Given the description of an element on the screen output the (x, y) to click on. 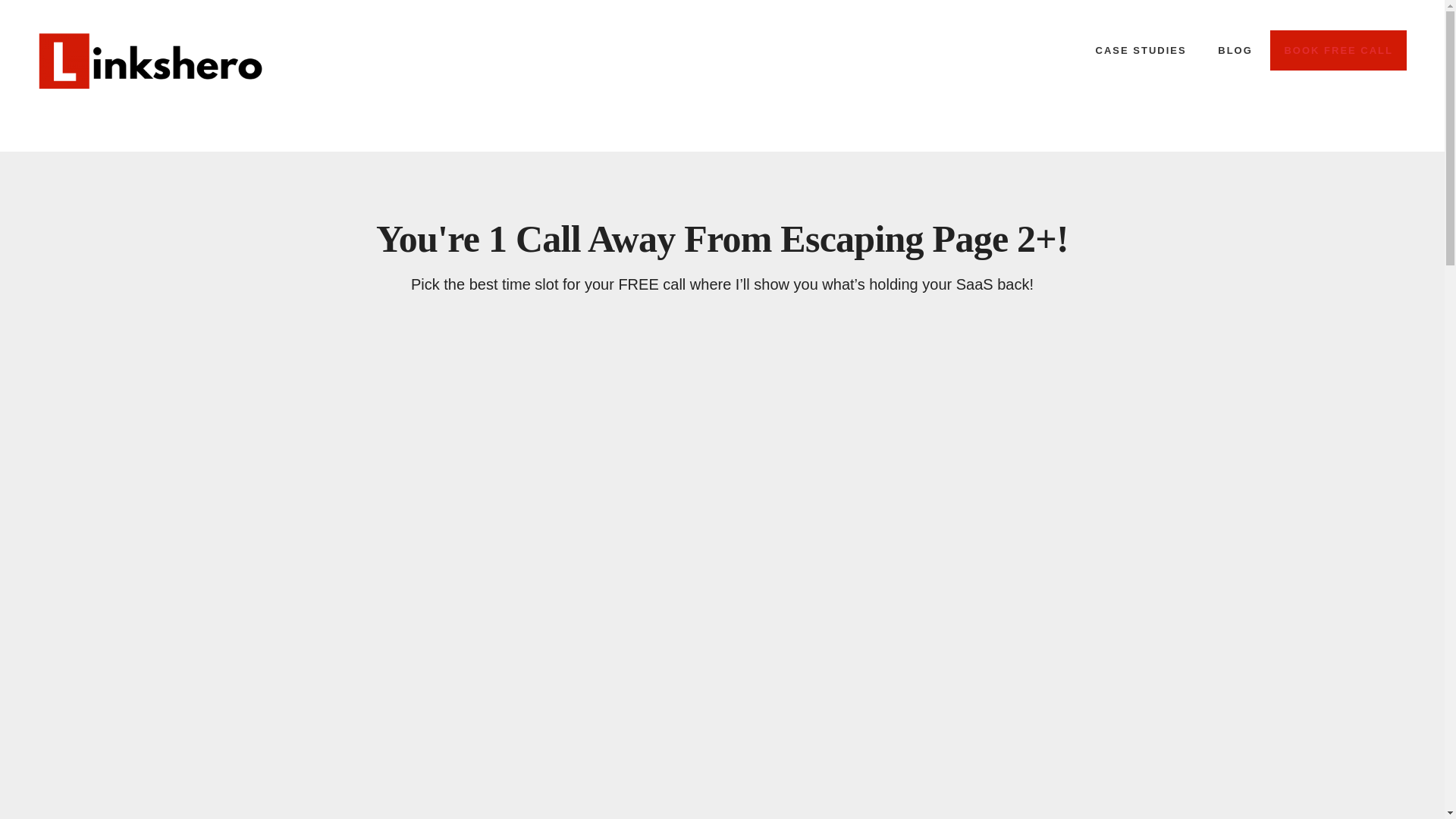
BOOK FREE CALL (1337, 50)
CASE STUDIES (1140, 50)
BLOG (1235, 50)
LINKSHERO (150, 60)
